Given the description of an element on the screen output the (x, y) to click on. 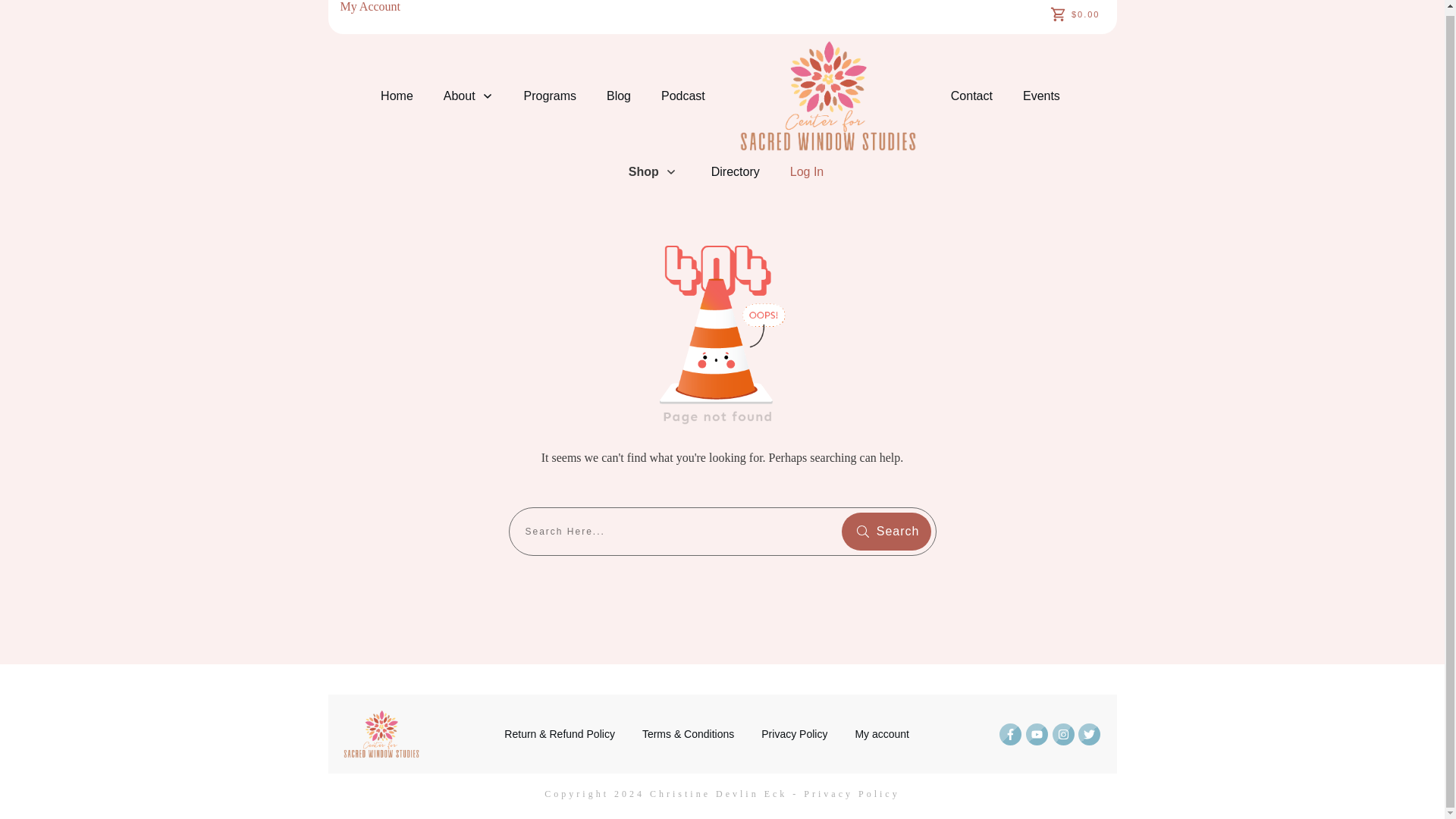
Privacy Policy (851, 793)
Events (1041, 96)
My account (881, 733)
About (468, 96)
Directory (735, 171)
My Account (369, 6)
Search (886, 531)
Programs (550, 96)
Home (396, 96)
Shop (652, 171)
